Given the description of an element on the screen output the (x, y) to click on. 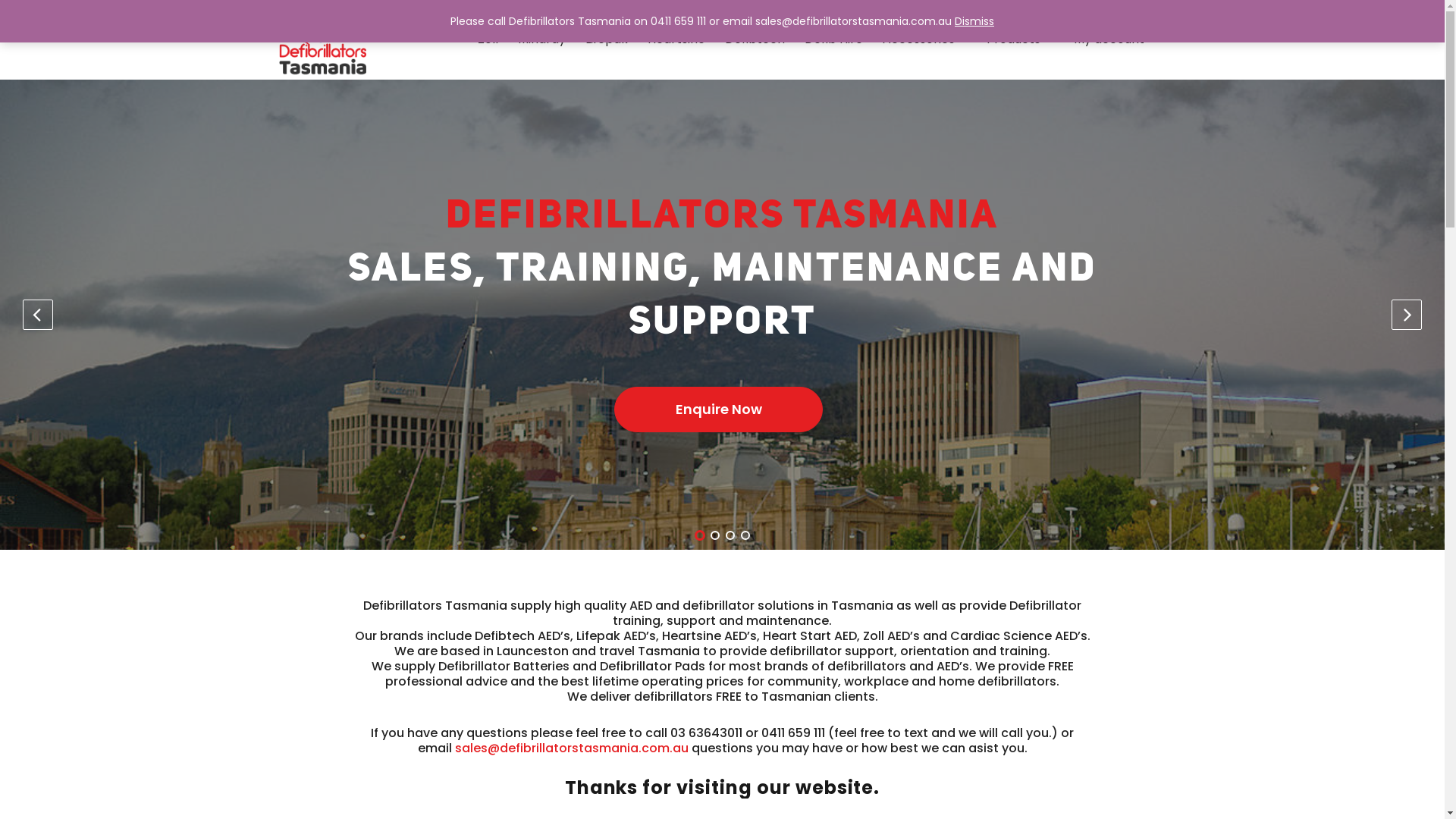
Heartsine Element type: text (676, 39)
Products Element type: text (1013, 39)
My account Element type: text (1114, 39)
Zoll Element type: text (487, 39)
Lifepak Element type: text (606, 39)
Enquire Now Element type: text (718, 409)
Dismiss Element type: text (974, 20)
Accessories Element type: text (924, 39)
Defibtech Element type: text (754, 39)
Defib Hire Element type: text (833, 39)
sales@defibrillatorstasmania.com.au Element type: text (571, 747)
Mindray Element type: text (541, 39)
